Given the description of an element on the screen output the (x, y) to click on. 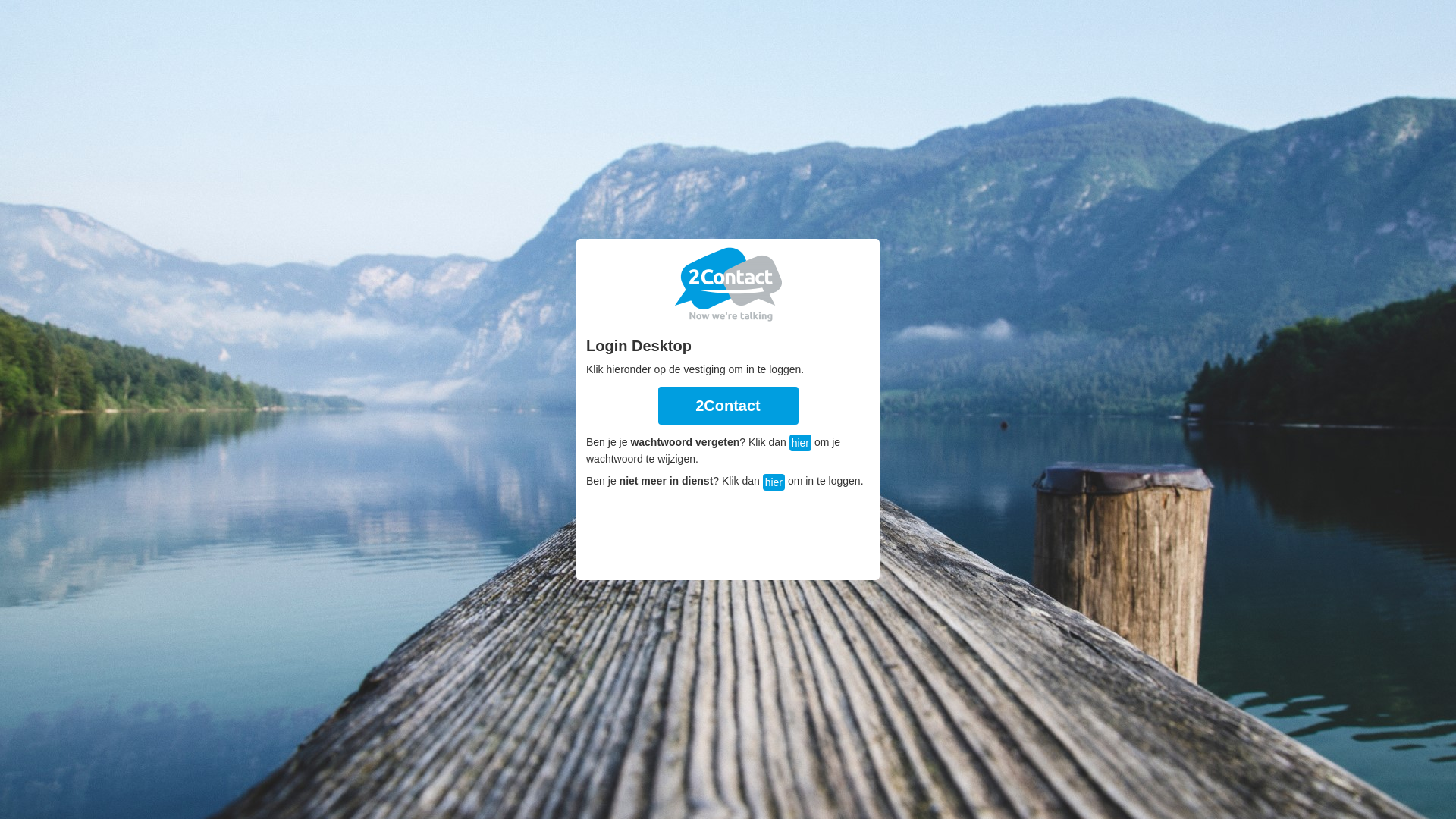
hier Element type: text (800, 442)
hier Element type: text (773, 481)
2Contact Element type: text (728, 405)
